Given the description of an element on the screen output the (x, y) to click on. 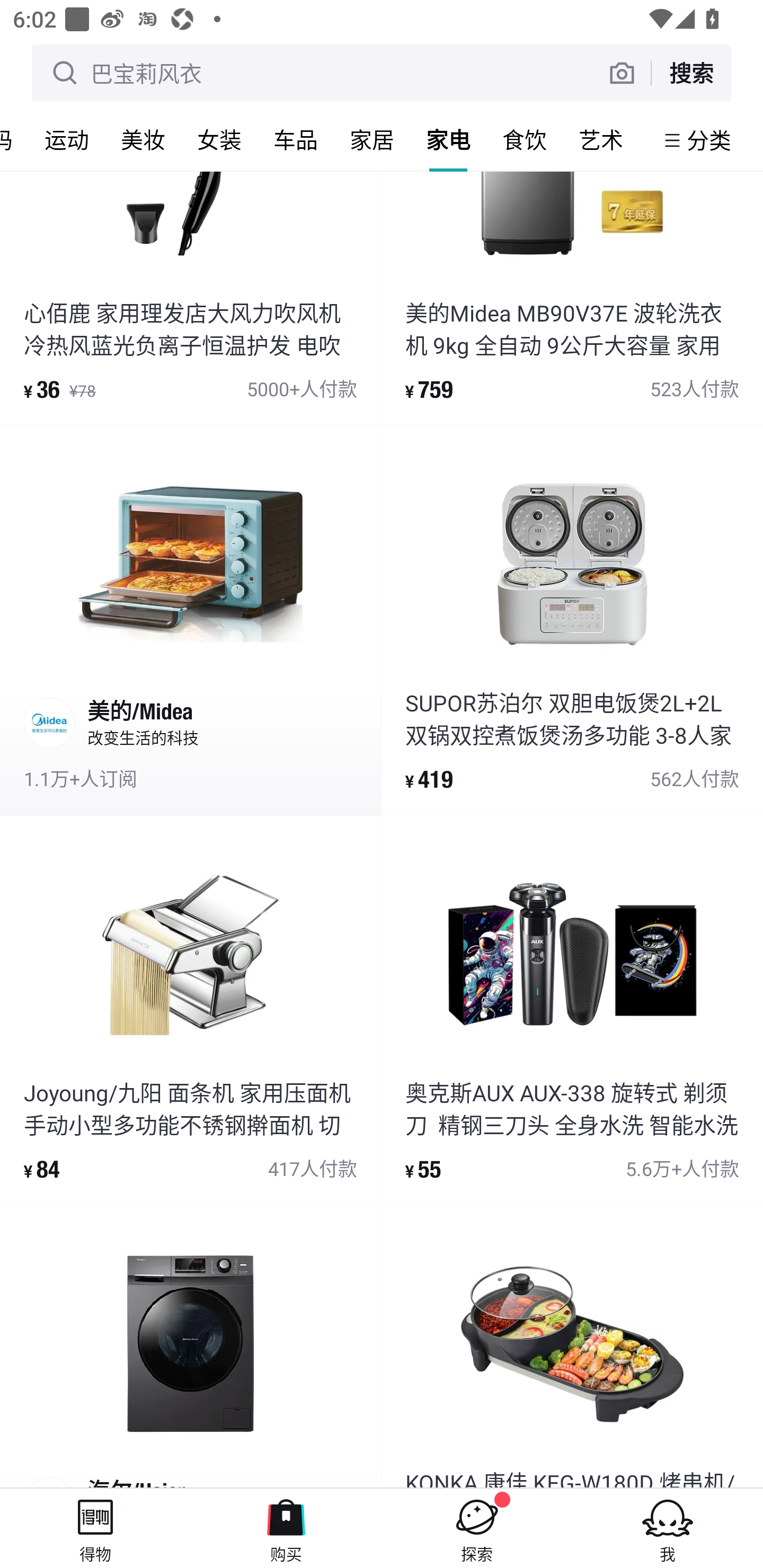
巴宝莉风衣 搜索 (381, 72)
搜索 (690, 72)
运动 (66, 139)
美妆 (143, 139)
女装 (219, 139)
车品 (295, 139)
家居 (372, 139)
家电 (448, 139)
食饮 (524, 139)
艺术 (601, 139)
分类 (708, 139)
美的/Midea 改变生活的科技 1.1万+人订阅 (190, 620)
海尔/Haier (190, 1346)
得物 (95, 1528)
购买 (285, 1528)
探索 (476, 1528)
我 (667, 1528)
